Given the description of an element on the screen output the (x, y) to click on. 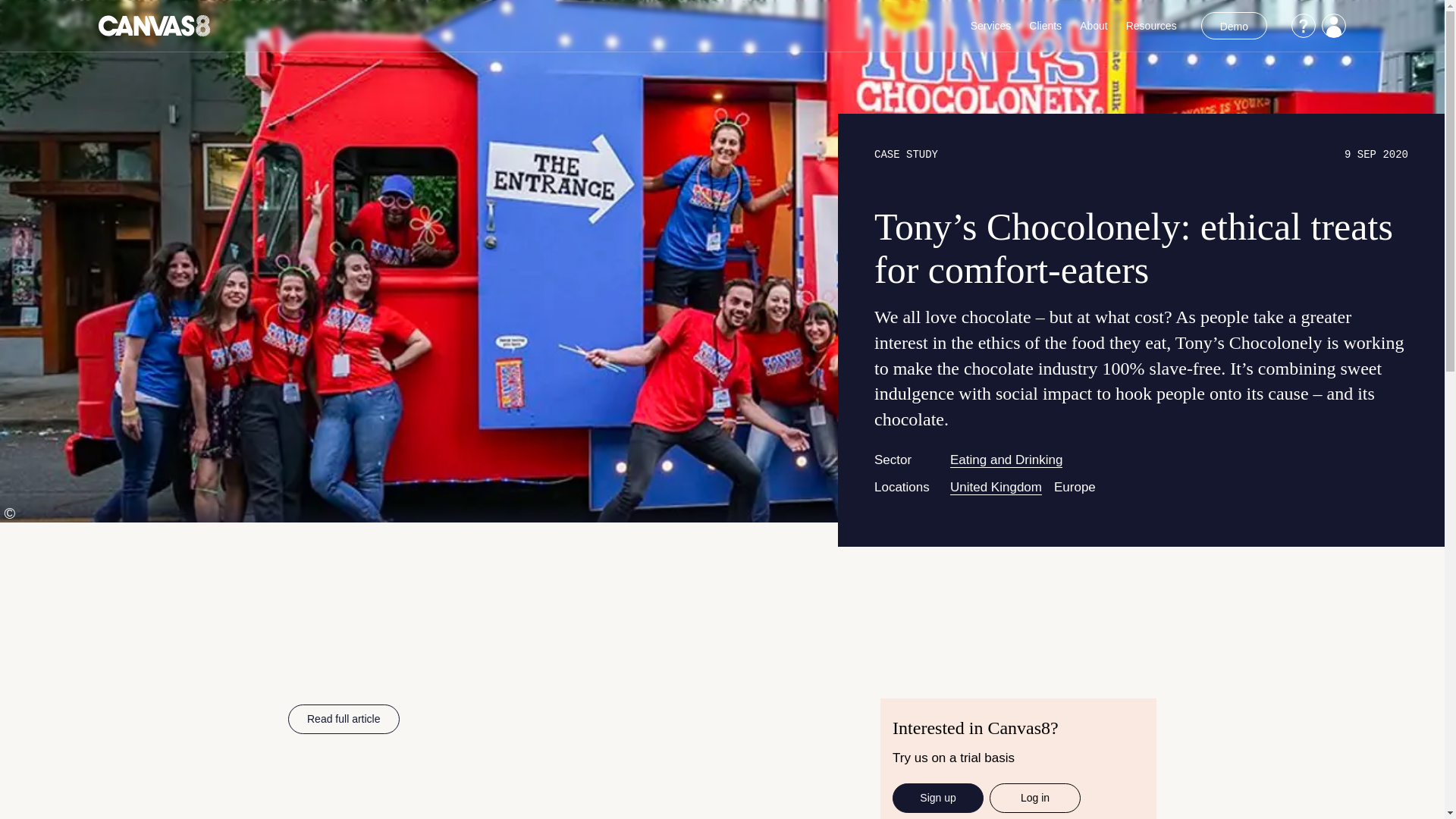
Demo (1233, 25)
Clients (1045, 26)
Sign up (938, 797)
Read full article (343, 718)
Eating and Drinking (1006, 459)
About (1094, 26)
Log in (1035, 797)
Resources (1150, 26)
United Kingdom (996, 487)
Services (991, 26)
